Given the description of an element on the screen output the (x, y) to click on. 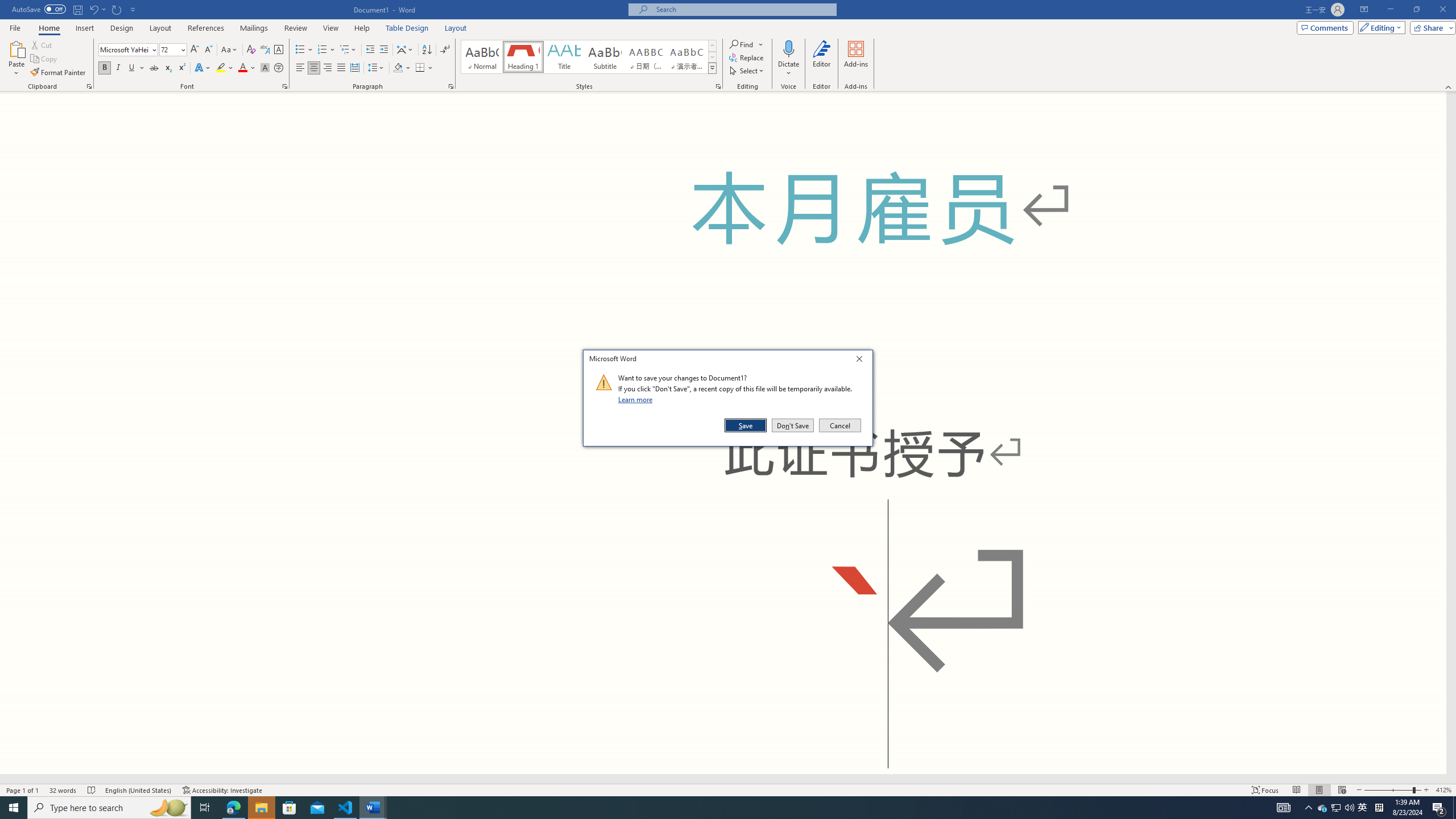
Undo Grow Font (92, 9)
Learn more (636, 399)
